Given the description of an element on the screen output the (x, y) to click on. 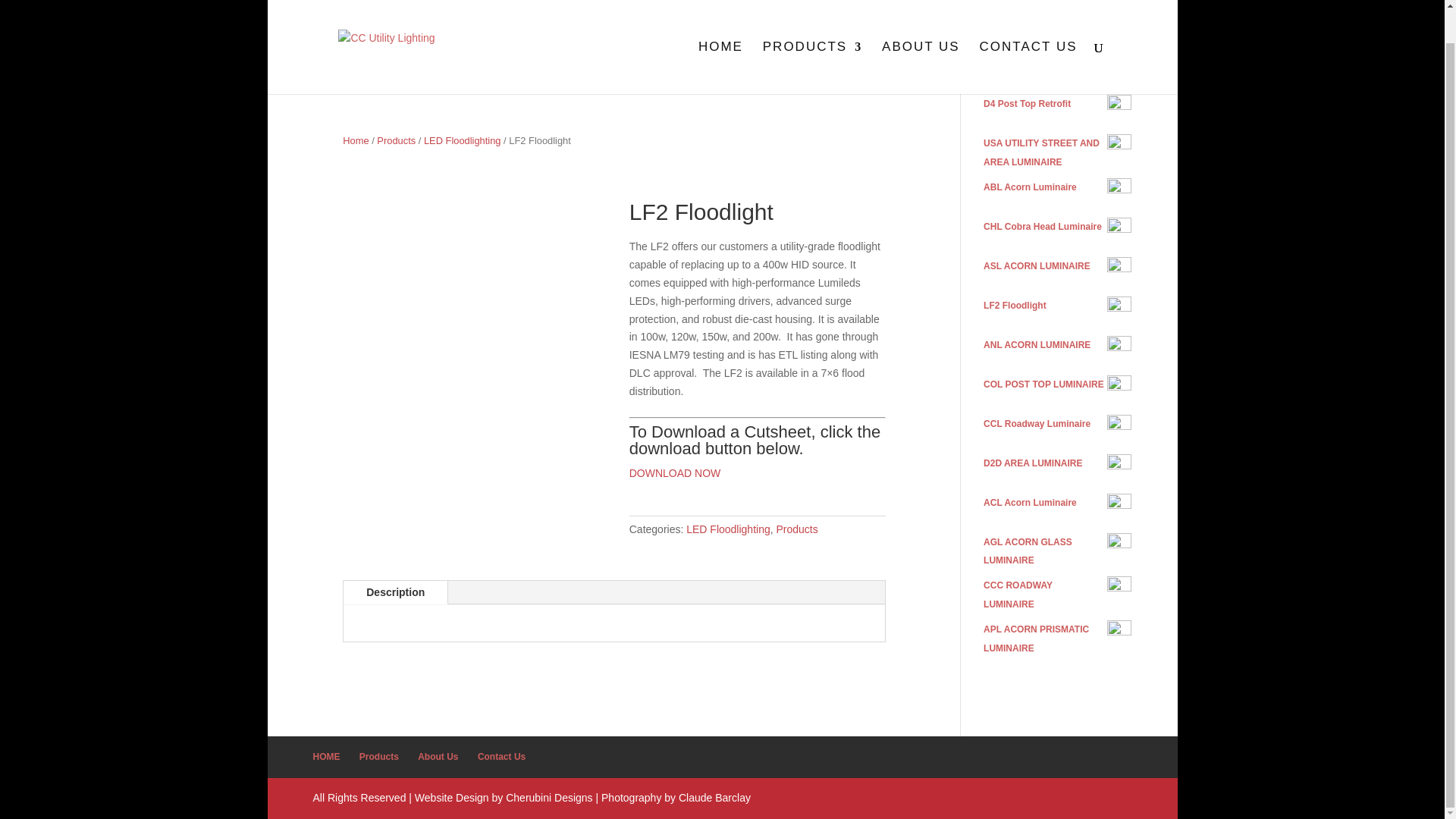
ACL Acorn Luminaire (1057, 502)
Products (378, 756)
Contact Us (501, 756)
AGL ACORN GLASS LUMINAIRE (1057, 551)
PRODUCTS (811, 33)
ANL ACORN LUMINAIRE (1057, 344)
LED Floodlighting (461, 140)
DOWNLOAD NOW (674, 472)
About Us (437, 756)
USA UTILITY STREET AND AREA LUMINAIRE (1057, 152)
